Given the description of an element on the screen output the (x, y) to click on. 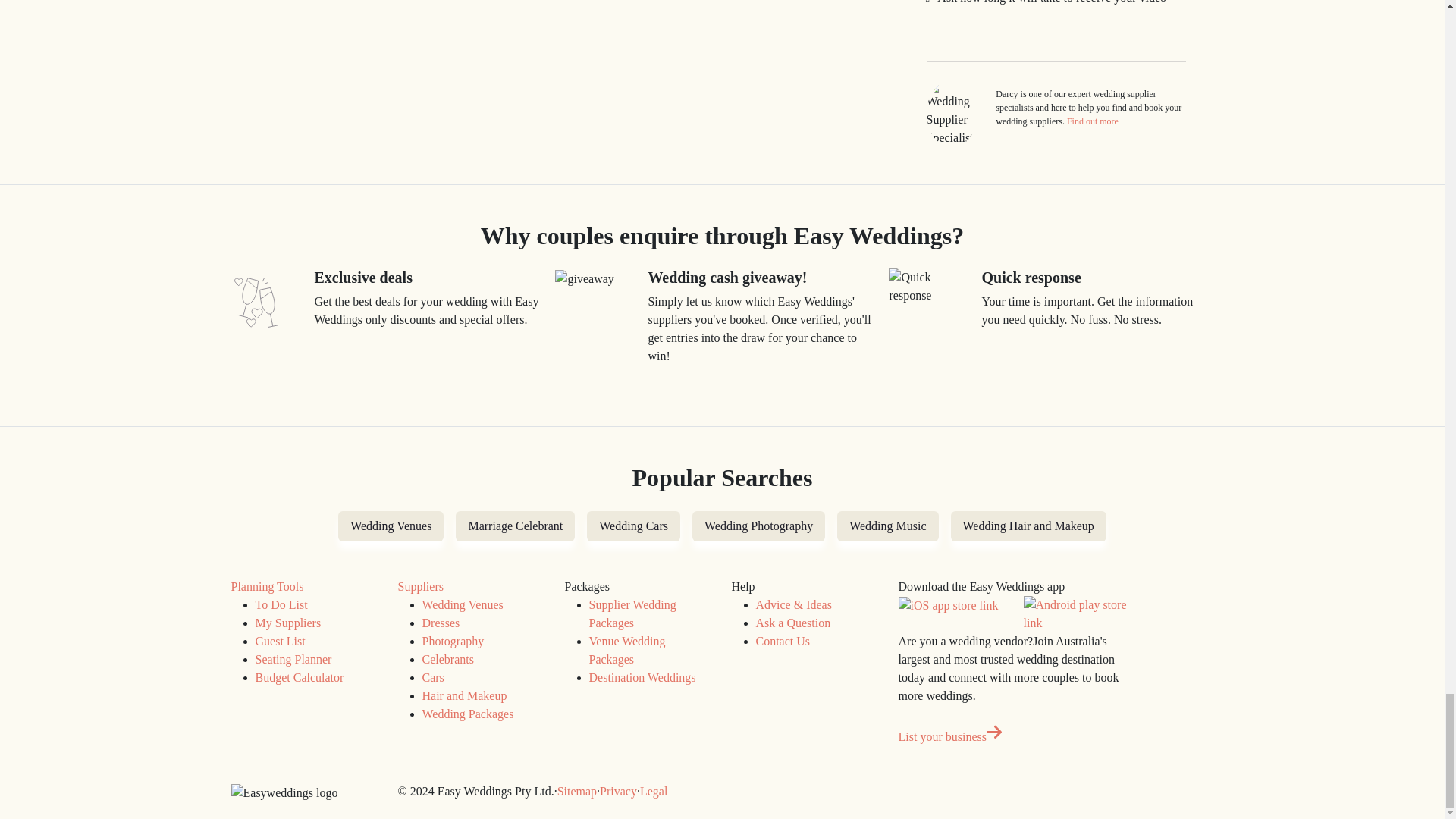
giveaway (583, 279)
iOS app store link (947, 606)
Quick response (930, 286)
Exclusive deals (255, 302)
Android play store link (1077, 614)
find out more (1092, 121)
